Given the description of an element on the screen output the (x, y) to click on. 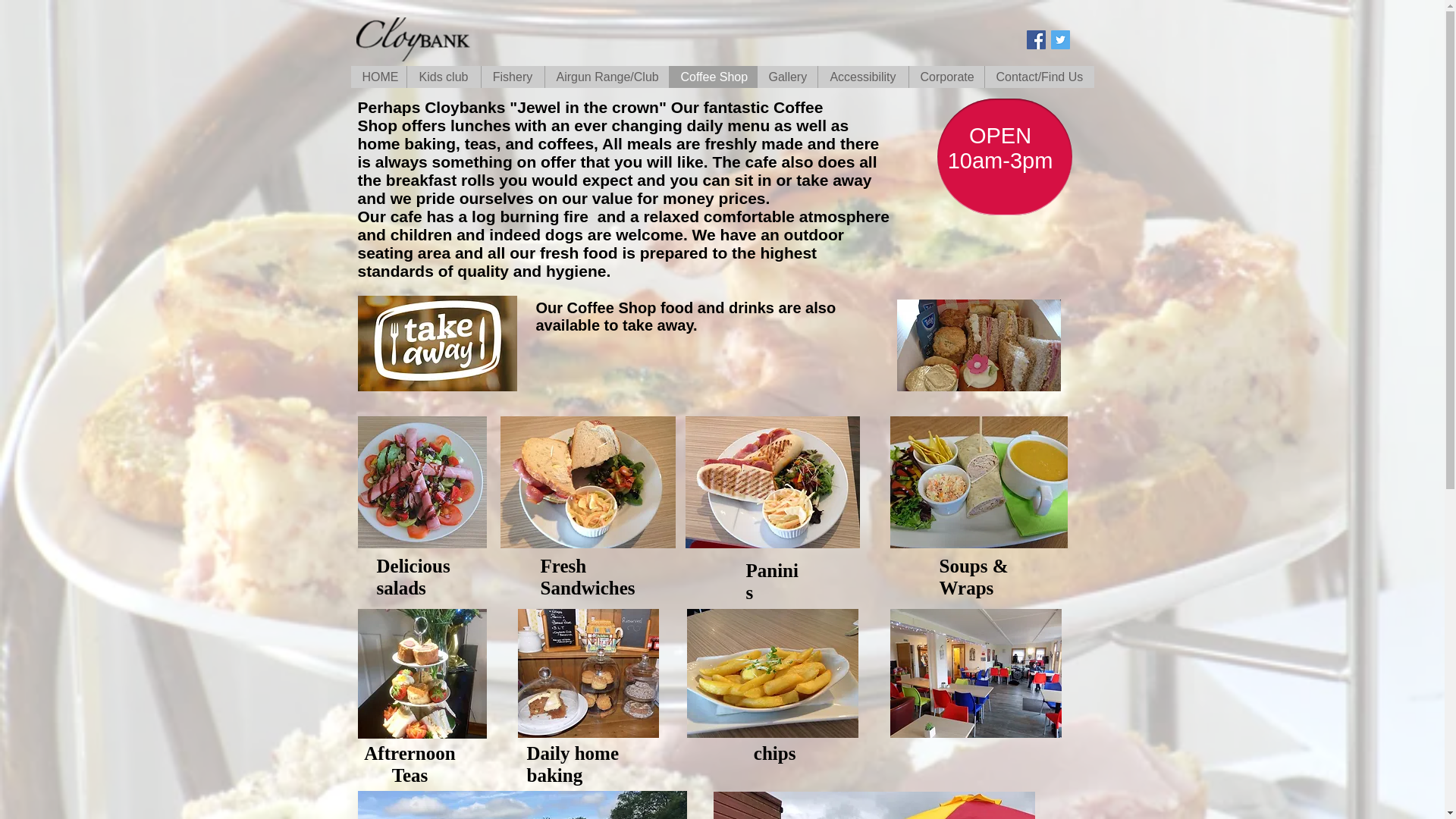
Corporate (946, 76)
HOME (378, 76)
Fishery (512, 76)
Gallery (786, 76)
Accessibility (862, 76)
Coffee Shop (712, 76)
Kids club (443, 76)
